Given the description of an element on the screen output the (x, y) to click on. 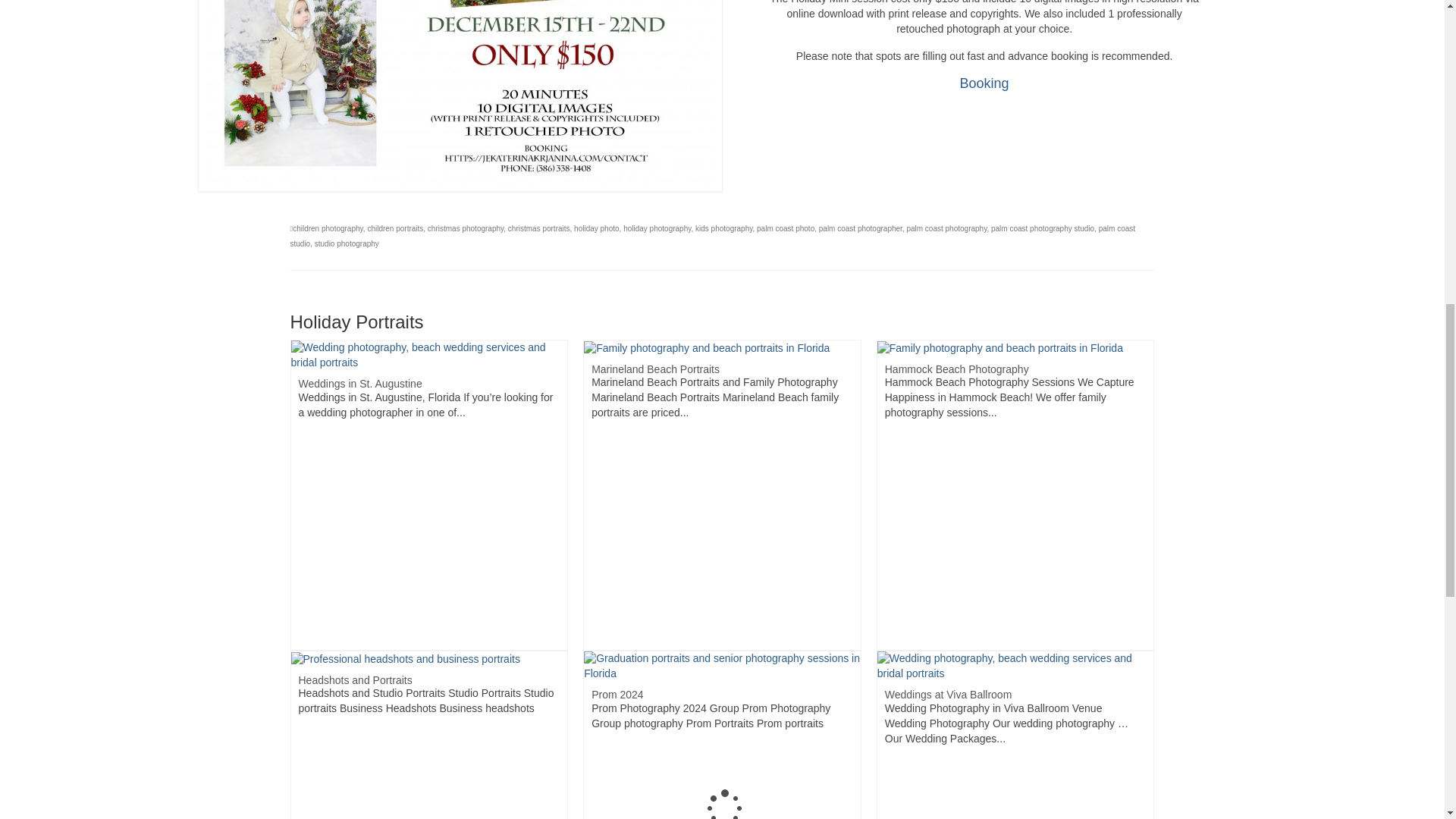
Marineland Beach Portraits (706, 346)
Hammock Beach Photography (999, 346)
Weddings at Viva Ballroom (1015, 665)
Weddings in St. Augustine (429, 354)
Prom 2024 (721, 665)
Headshots and Portraits (405, 657)
